Given the description of an element on the screen output the (x, y) to click on. 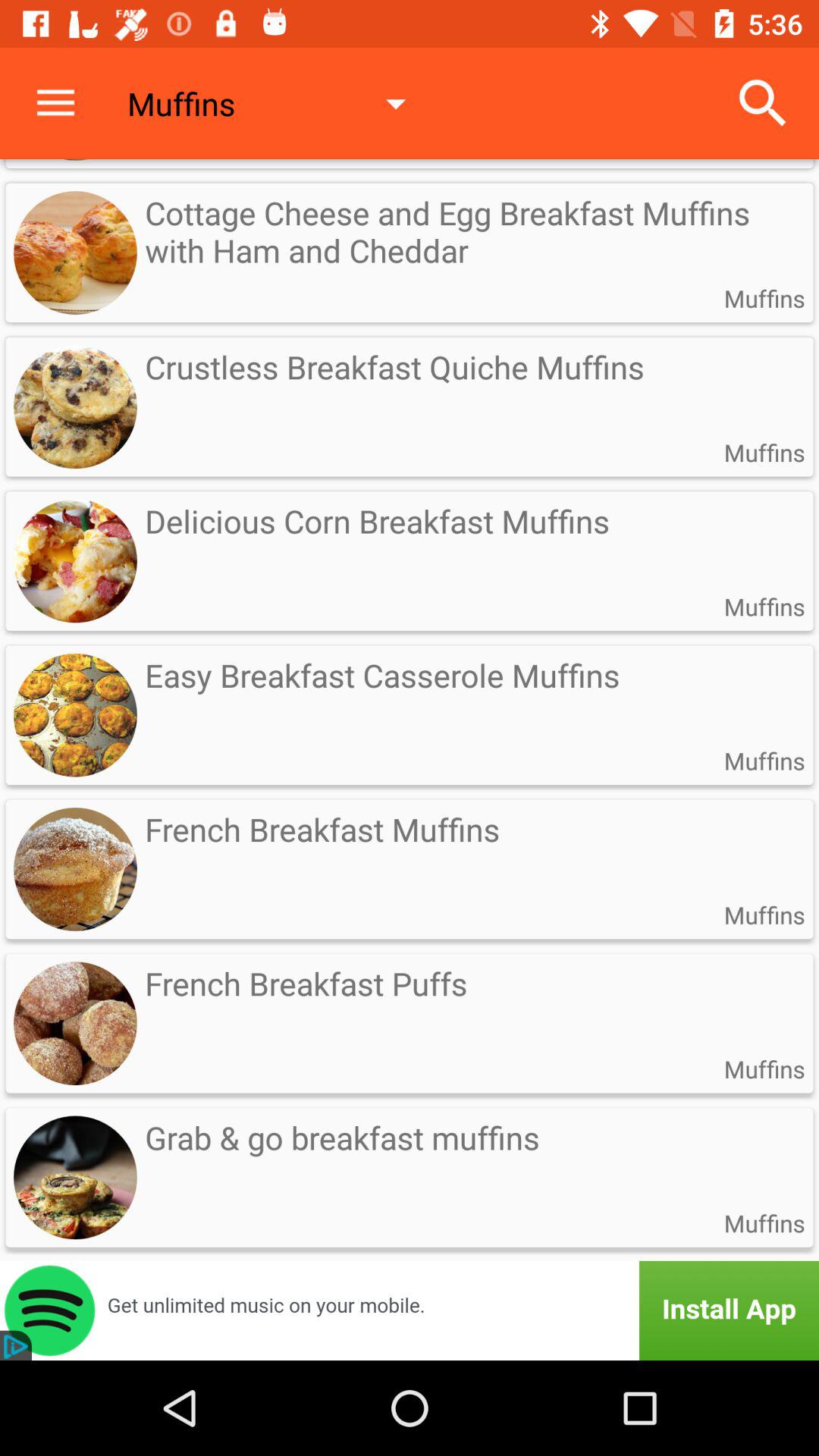
open advertisement (409, 1310)
